Given the description of an element on the screen output the (x, y) to click on. 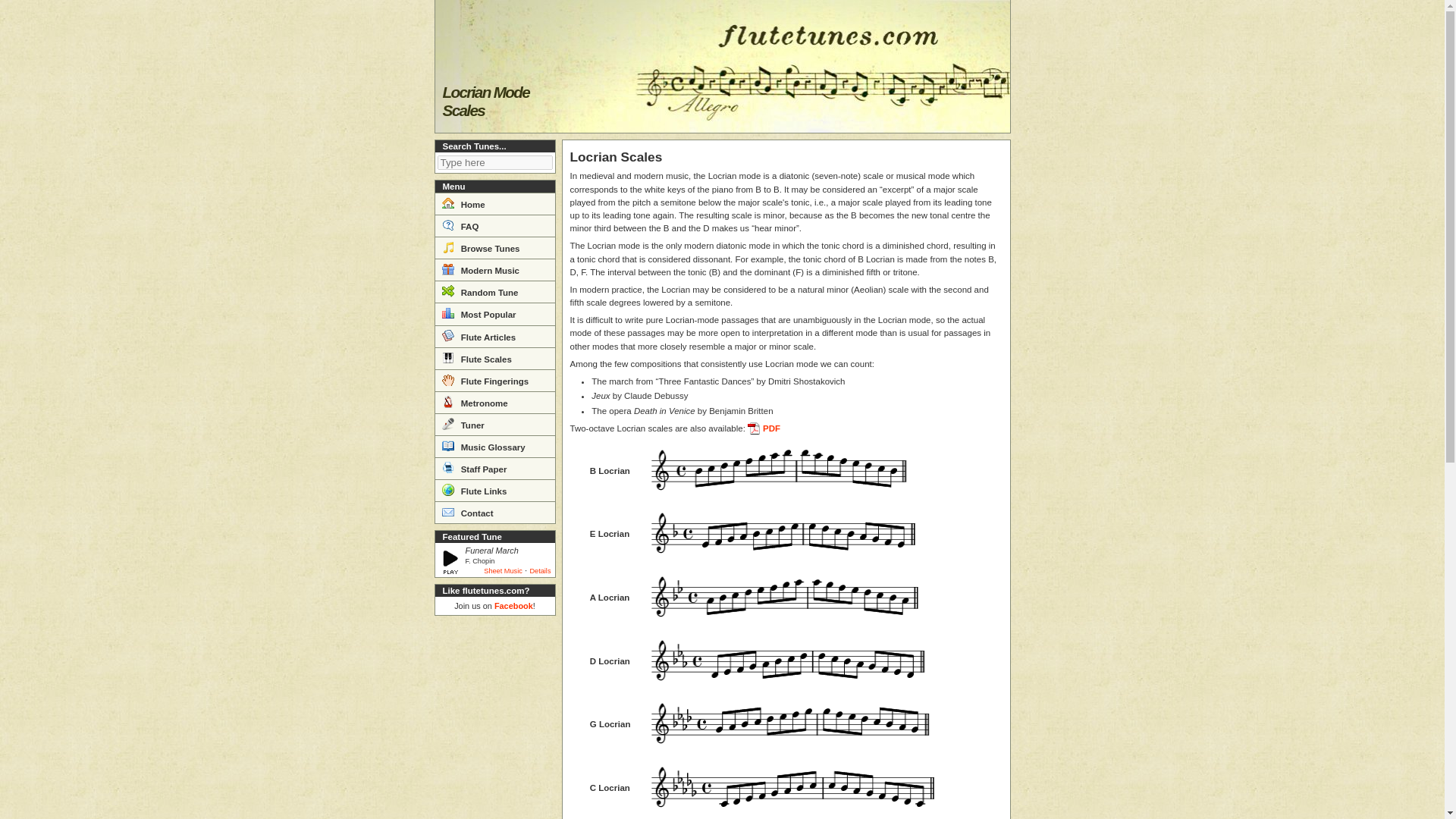
Most Popular (494, 313)
Flute Scales (494, 358)
Facebook (513, 605)
Contact (494, 512)
PDF (764, 428)
Modern Music (494, 269)
Flute Fingerings (494, 380)
Random Tune (494, 291)
Music Glossary (494, 445)
Sheet Music (502, 570)
FAQ (494, 225)
Flute Articles (494, 336)
Browse Tunes (494, 247)
Flute Links (494, 490)
Metronome (494, 402)
